Given the description of an element on the screen output the (x, y) to click on. 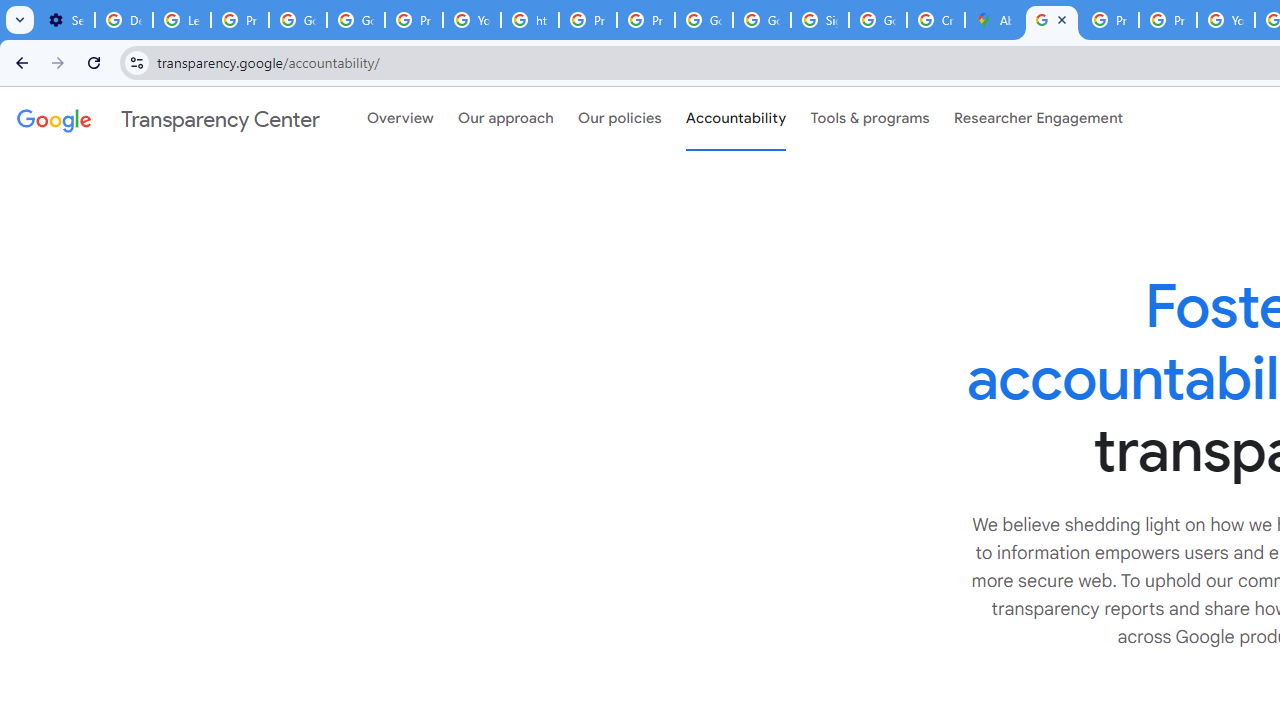
Create your Google Account (936, 20)
Tools & programs (869, 119)
Google Account Help (297, 20)
Sign in - Google Accounts (819, 20)
Delete photos & videos - Computer - Google Photos Help (123, 20)
Privacy Help Center - Policies Help (1167, 20)
Researcher Engagement (1038, 119)
Privacy Help Center - Policies Help (587, 20)
